Given the description of an element on the screen output the (x, y) to click on. 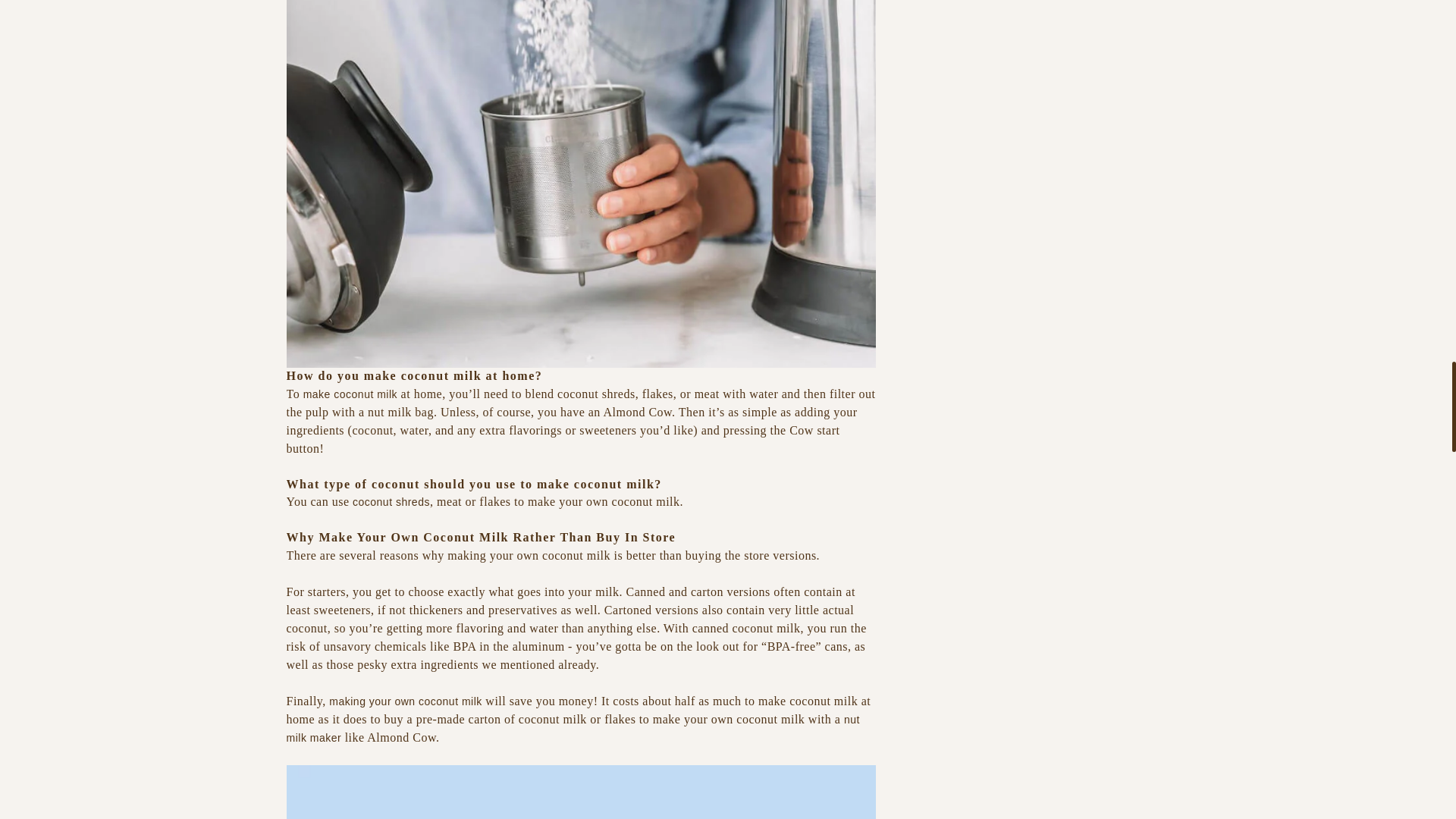
coconut shreds (390, 501)
make coconut milk (349, 394)
nut milk maker (573, 728)
making your own coconut milk (405, 701)
